Given the description of an element on the screen output the (x, y) to click on. 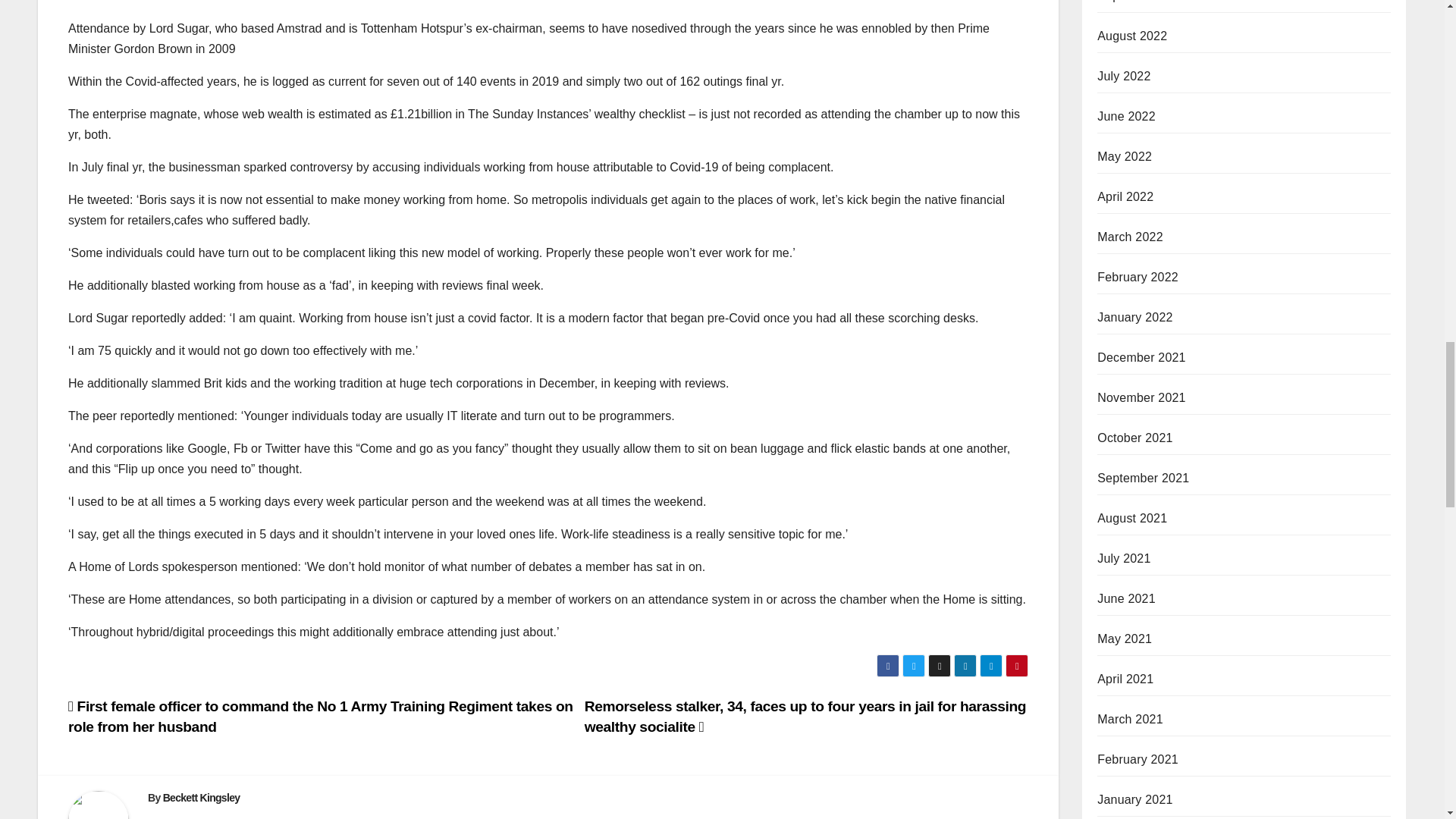
Beckett Kingsley (201, 797)
